Given the description of an element on the screen output the (x, y) to click on. 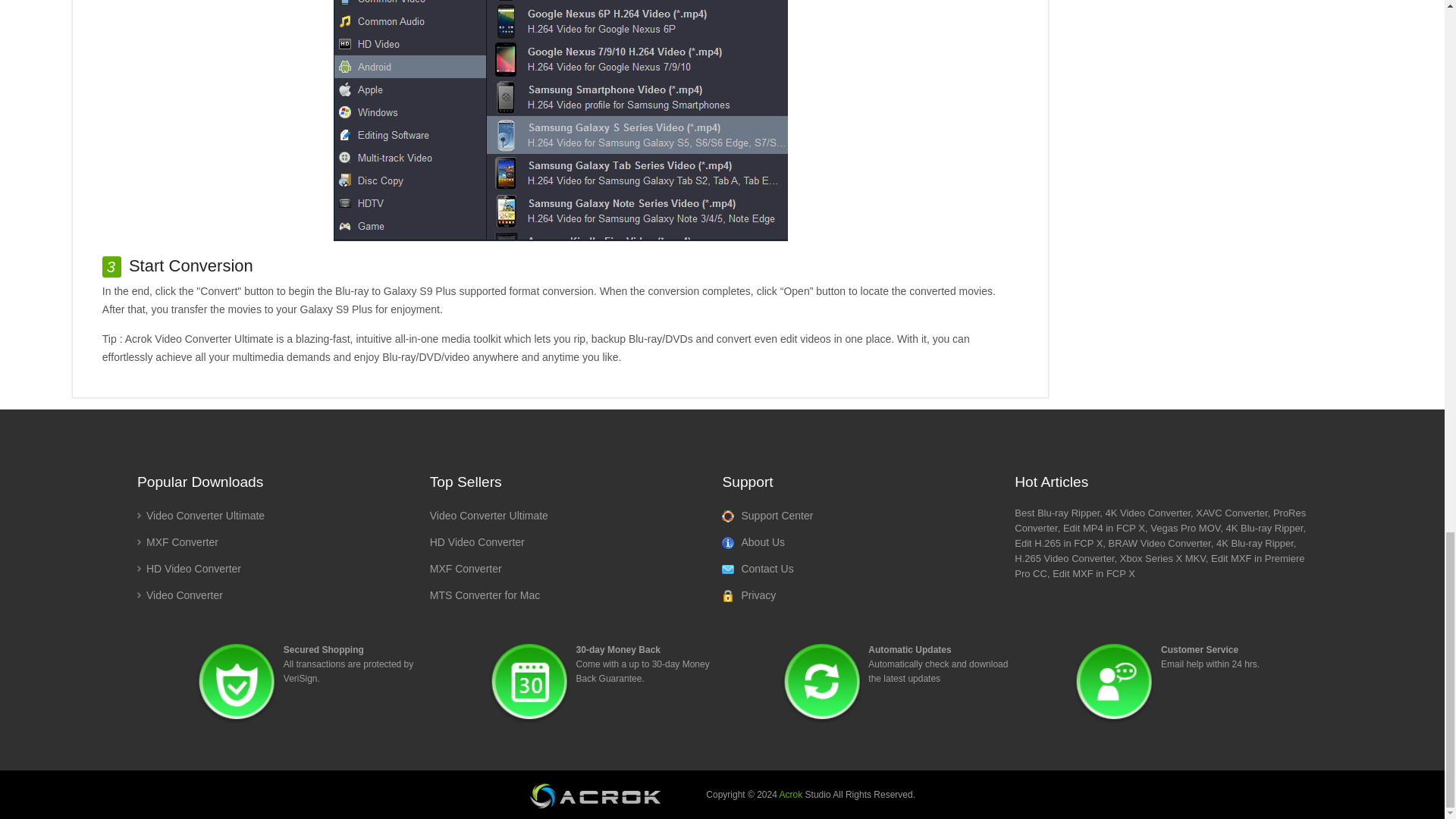
Video Converter Ultimate (488, 515)
MTS Converter for Mac (484, 594)
About Us (753, 542)
MXF Converter (177, 541)
Privacy (749, 595)
Video Converter (179, 594)
HD Video Converter (188, 568)
HD Video Converter (476, 541)
Video Converter Ultimate (200, 515)
Best Blu-ray Ripper (1056, 512)
